Given the description of an element on the screen output the (x, y) to click on. 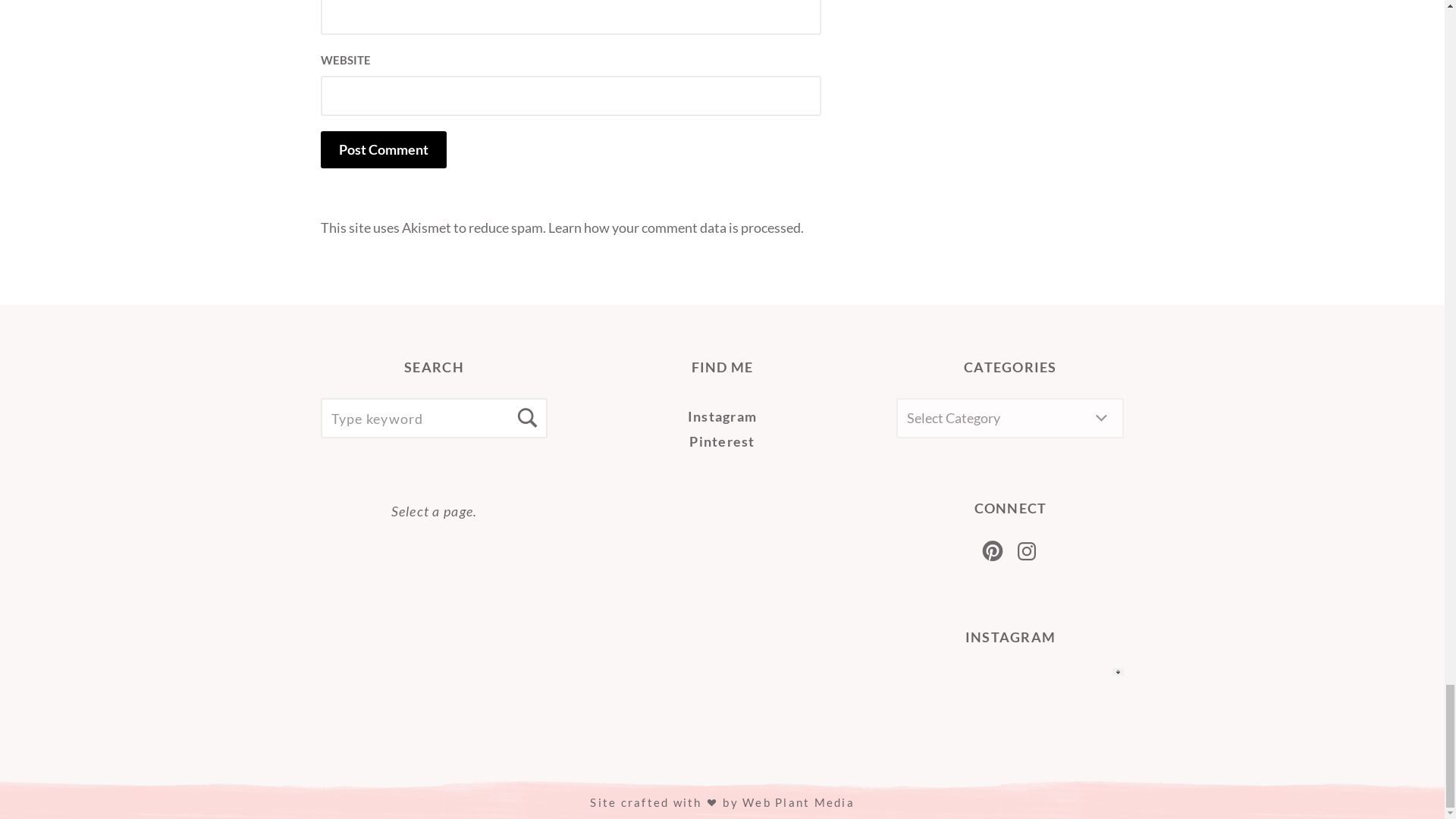
Learn how your comment data is processed (673, 227)
Press Enter to submit your search (433, 418)
Post Comment (382, 149)
Post Comment (382, 149)
